Given the description of an element on the screen output the (x, y) to click on. 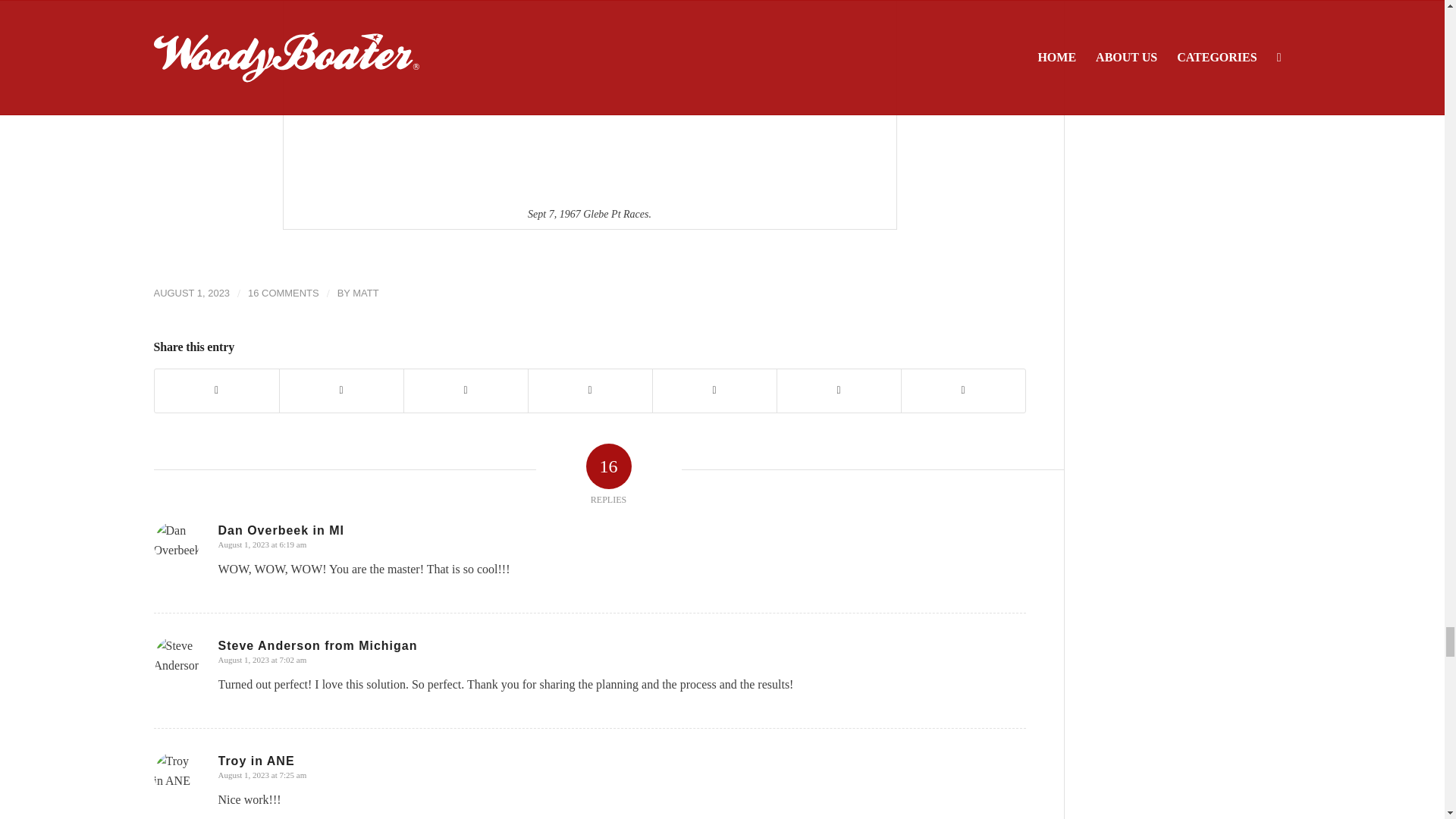
MATT (365, 292)
August 1, 2023 at 6:19 am (262, 543)
August 1, 2023 at 7:02 am (262, 659)
Posts by Matt (365, 292)
16 COMMENTS (282, 292)
August 1, 2023 at 7:25 am (262, 774)
